Given the description of an element on the screen output the (x, y) to click on. 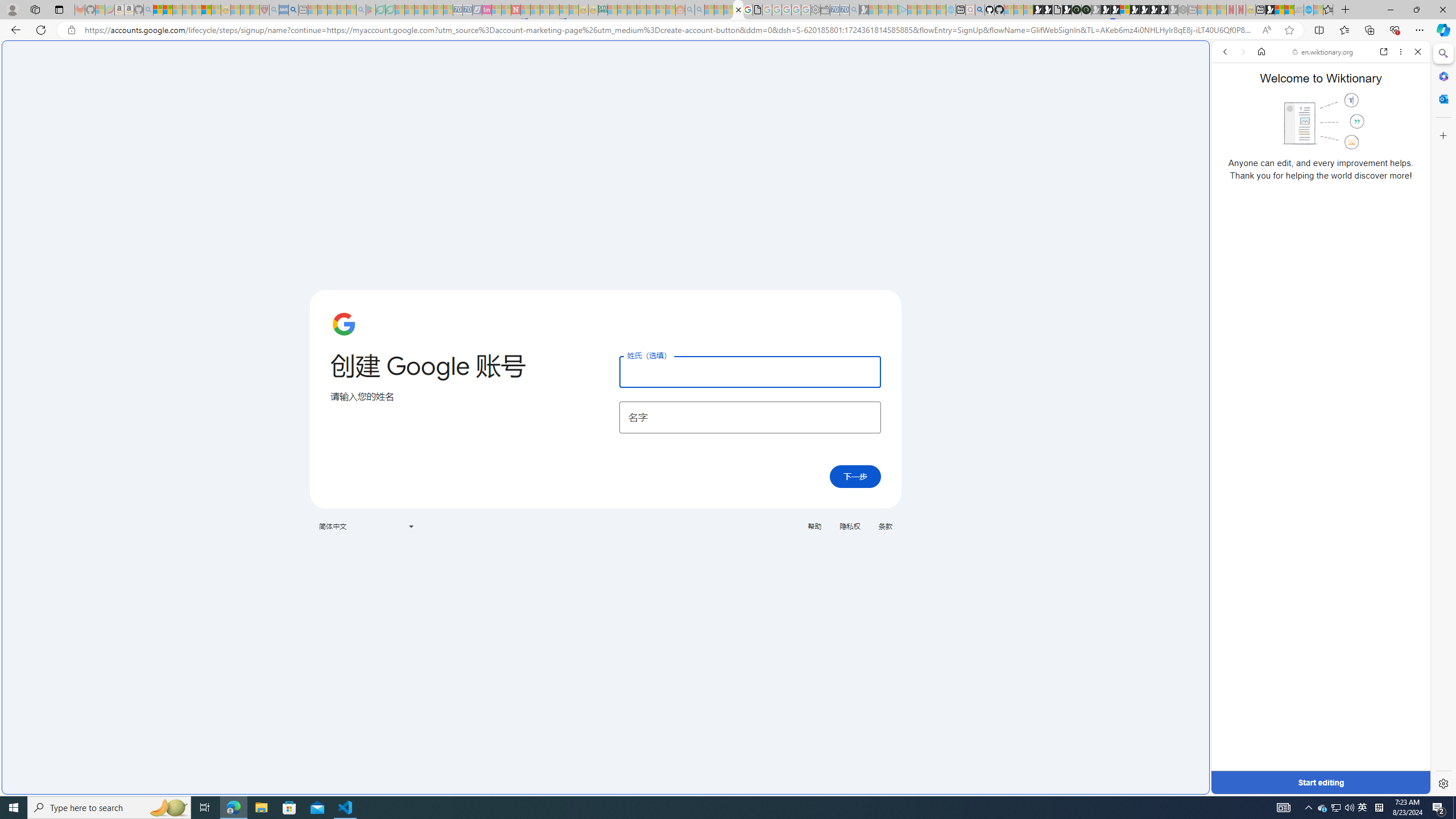
Start editing (1320, 782)
Class: VfPpkd-t08AT-Bz112c-Bd00G (410, 526)
